Given the description of an element on the screen output the (x, y) to click on. 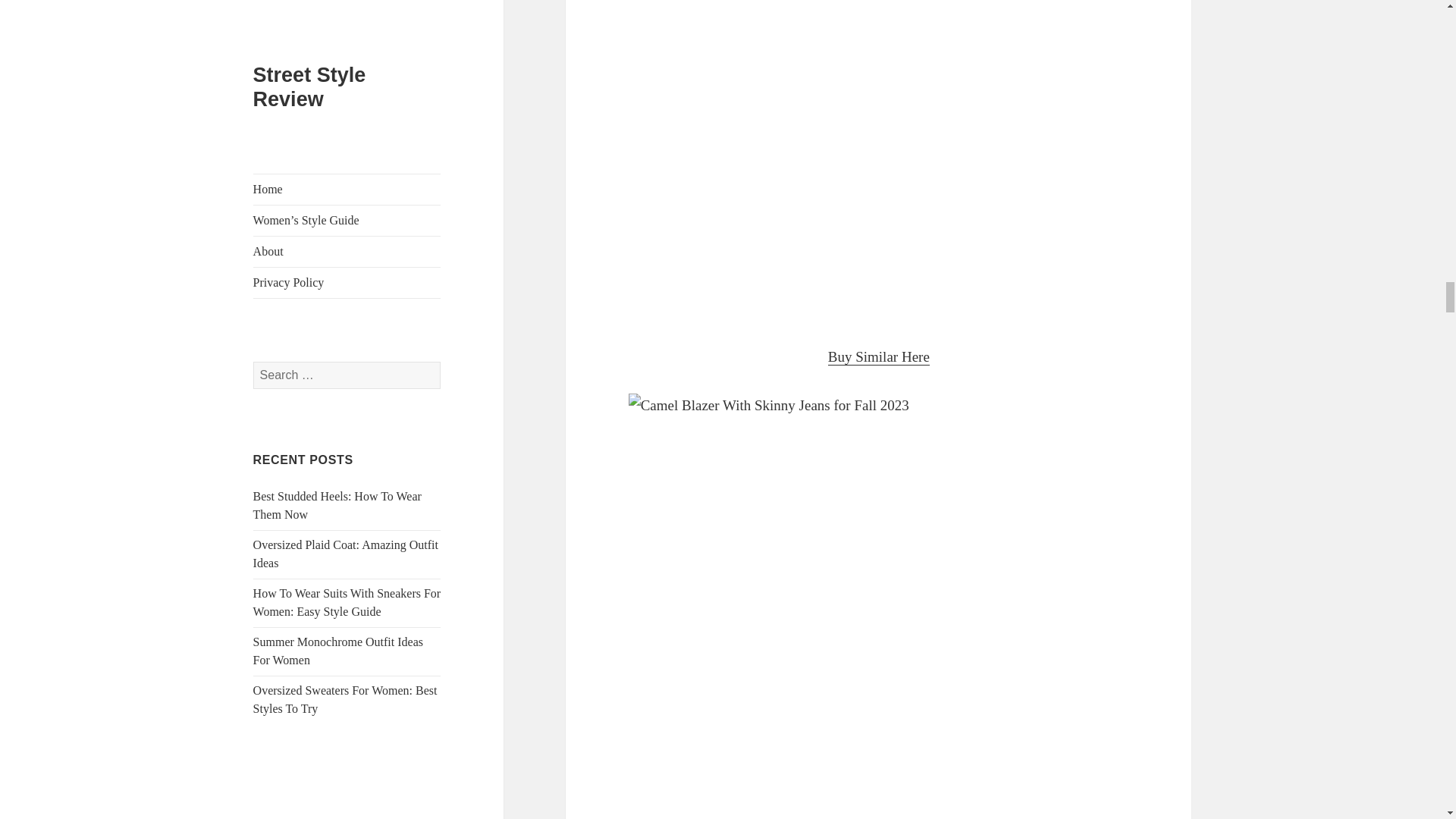
Camel Blazer With Skinny Jeans for Fall 2023 (878, 160)
Buy Similar Here (879, 356)
